Given the description of an element on the screen output the (x, y) to click on. 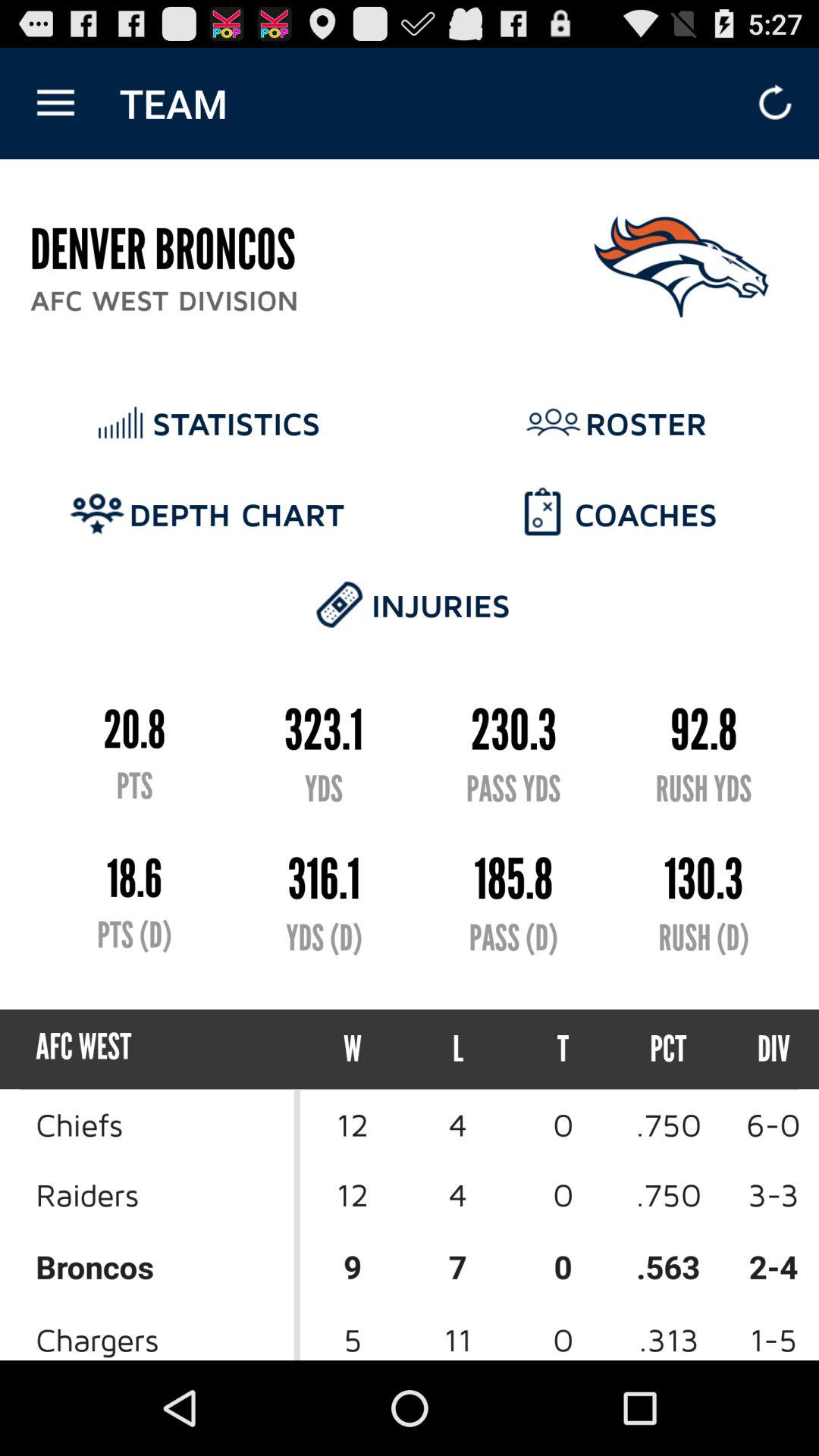
select app to the left of the team item (55, 103)
